Given the description of an element on the screen output the (x, y) to click on. 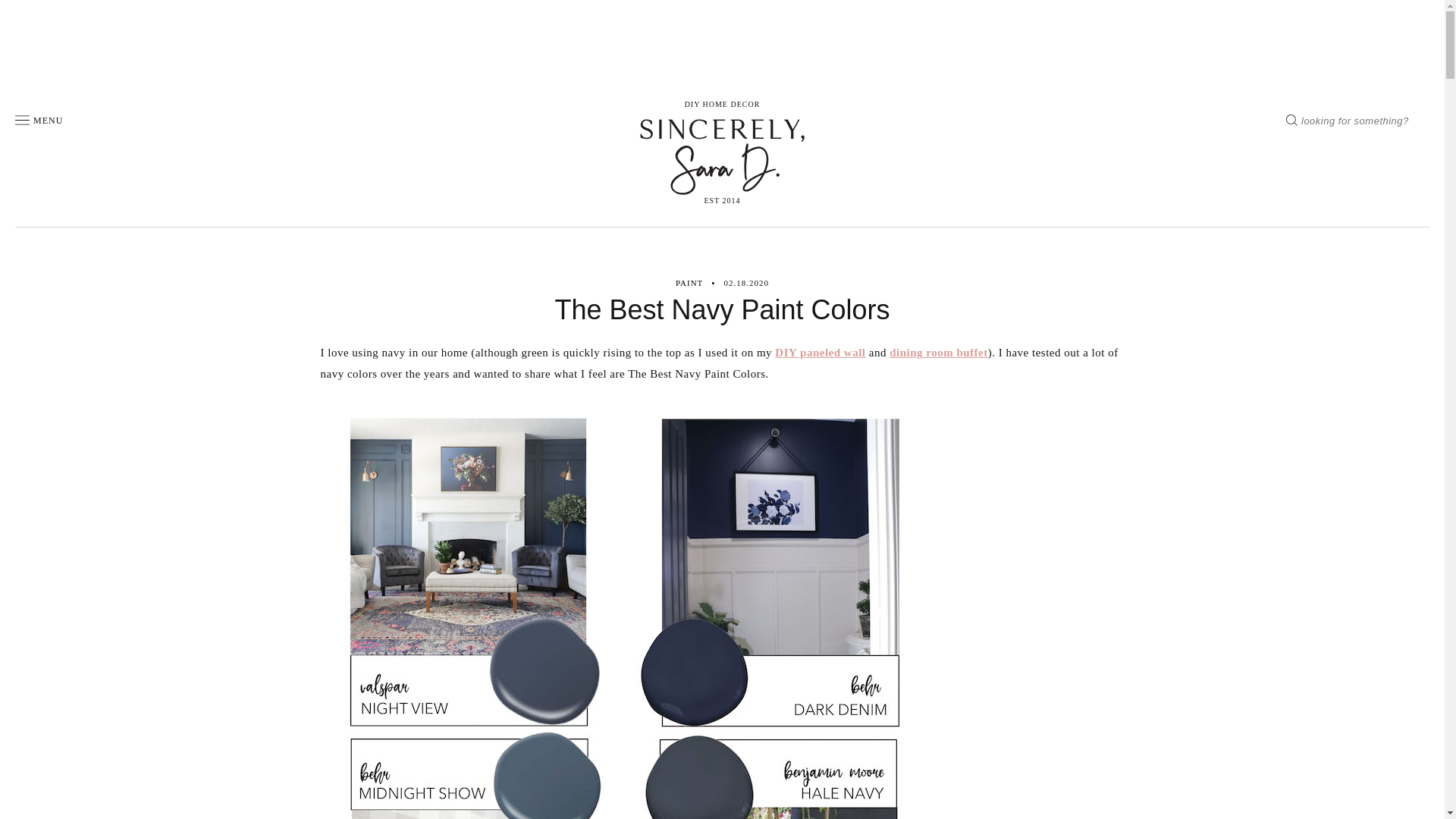
DIY paneled wall (819, 352)
dining room buffet (938, 352)
PAINT (689, 282)
